Given the description of an element on the screen output the (x, y) to click on. 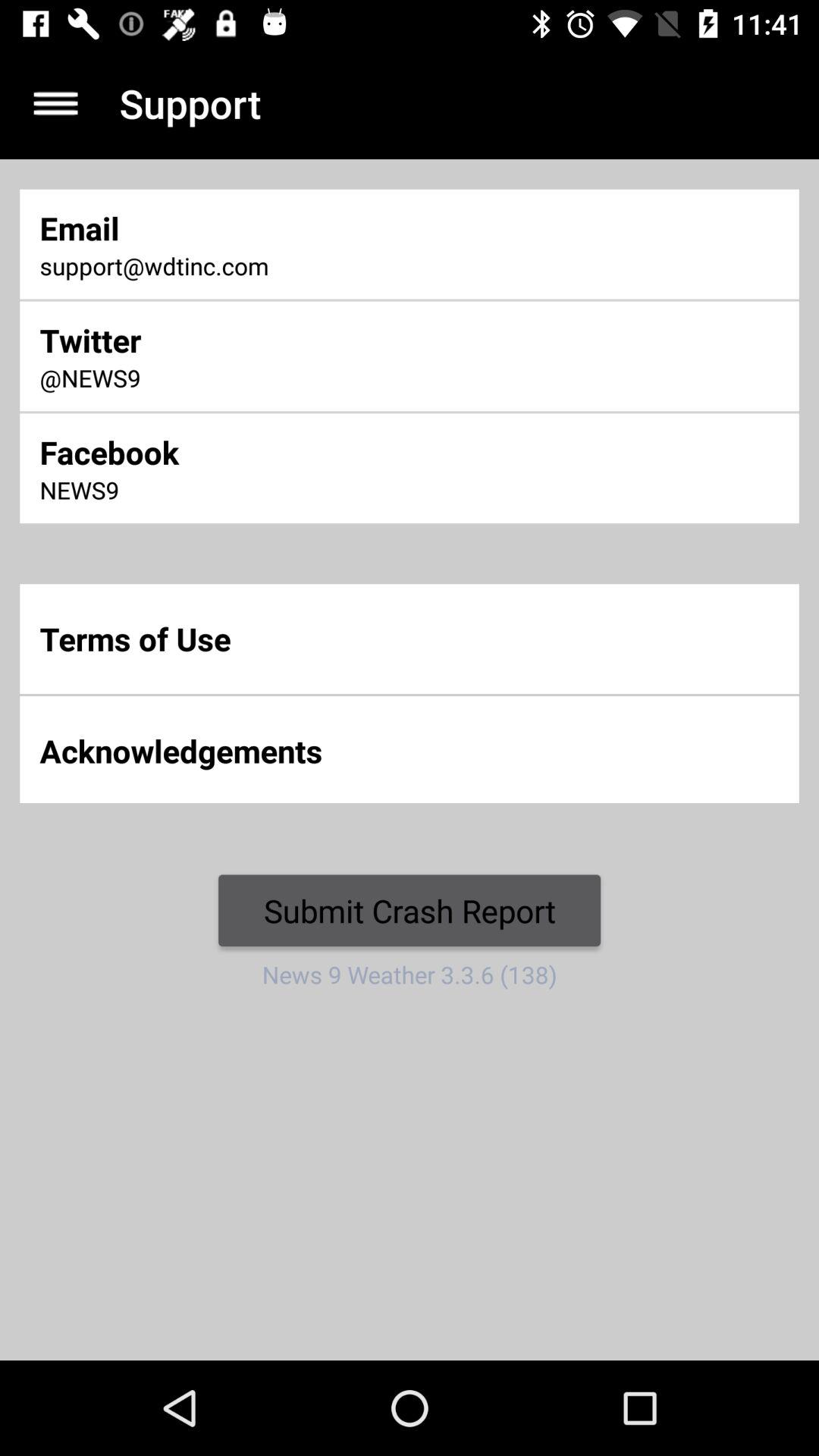
launch the item above the email item (55, 103)
